Given the description of an element on the screen output the (x, y) to click on. 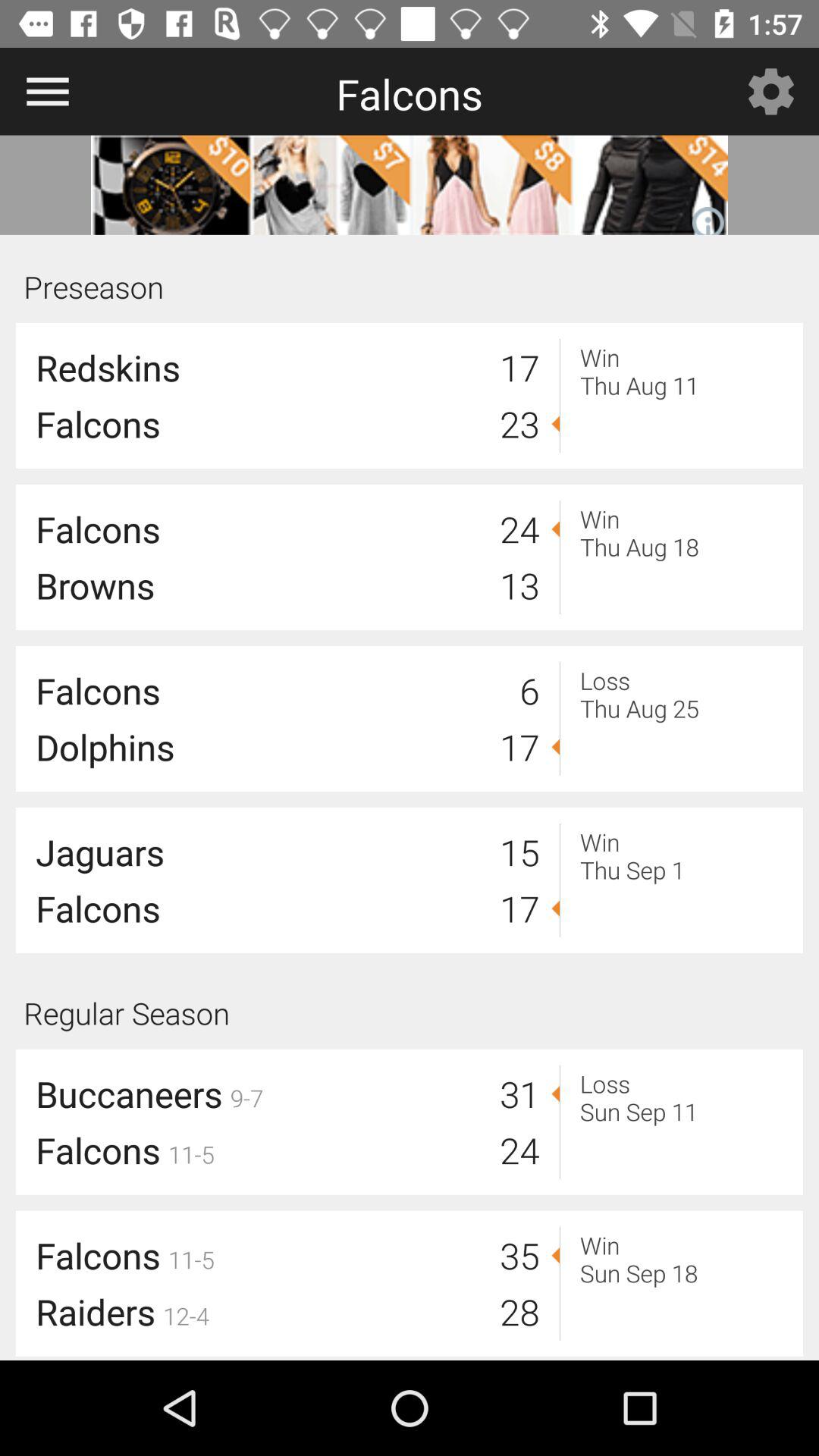
advertisement (409, 184)
